Given the description of an element on the screen output the (x, y) to click on. 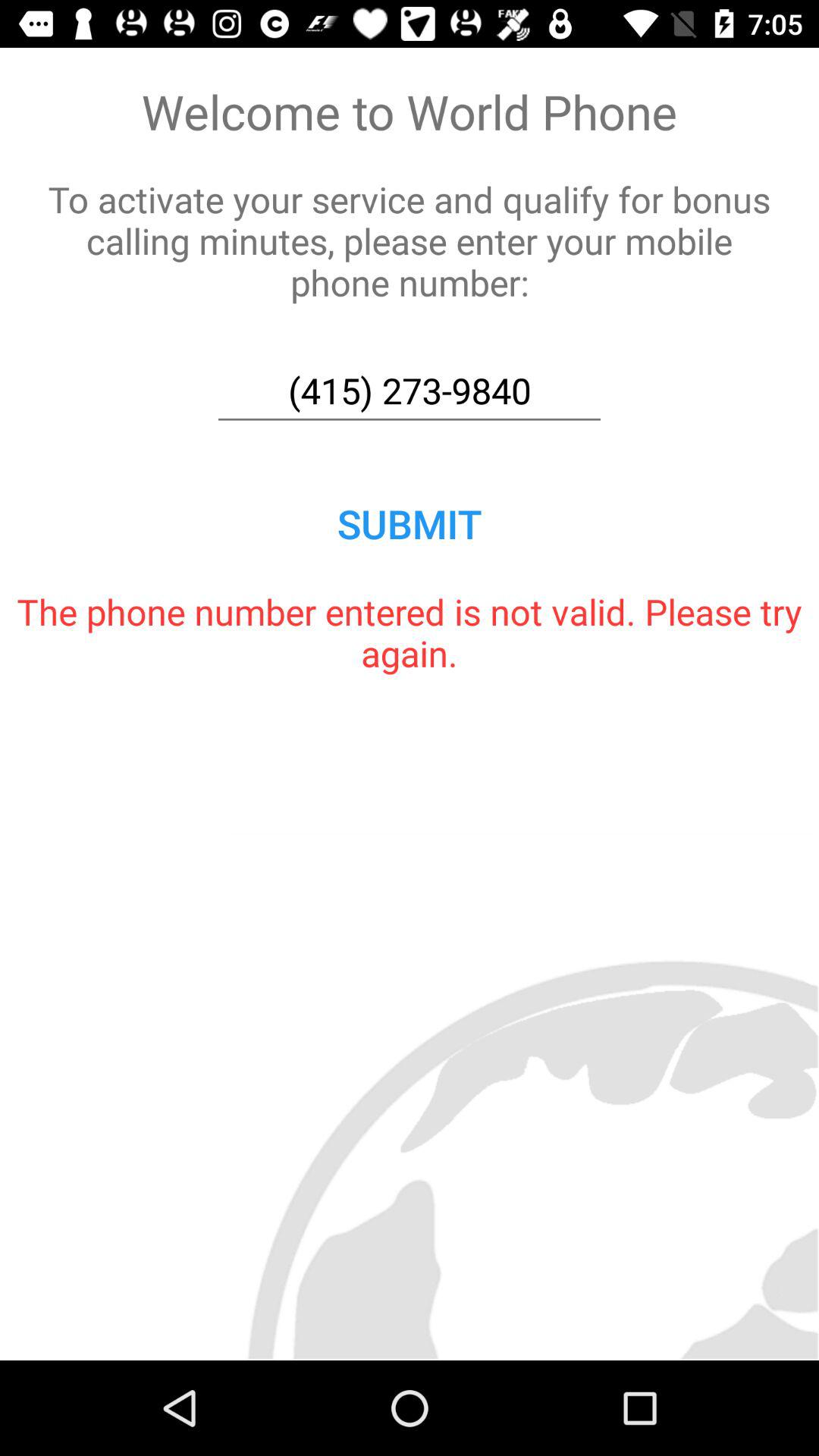
flip until submit icon (409, 523)
